Given the description of an element on the screen output the (x, y) to click on. 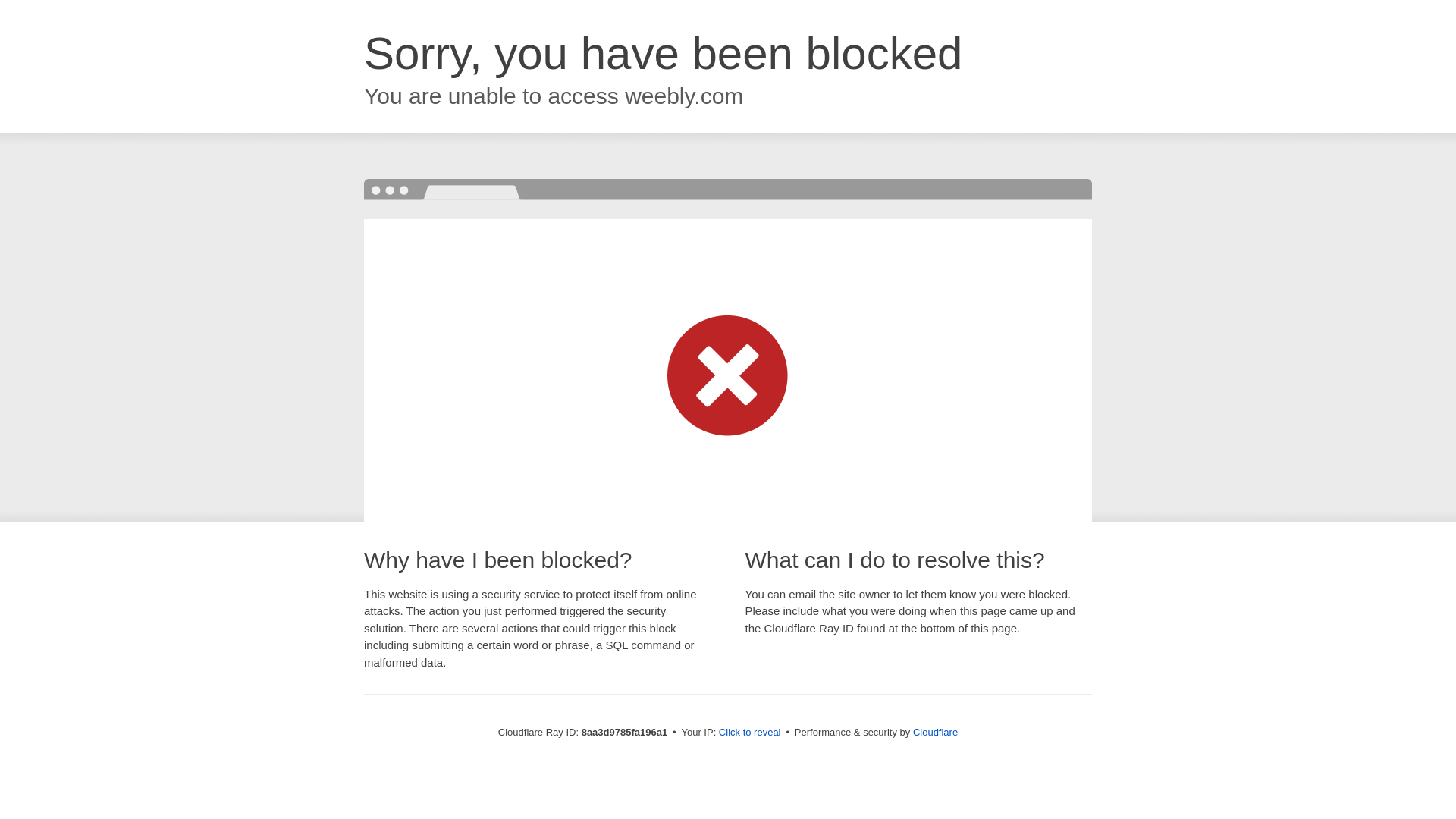
Cloudflare (935, 731)
Click to reveal (749, 732)
